Given the description of an element on the screen output the (x, y) to click on. 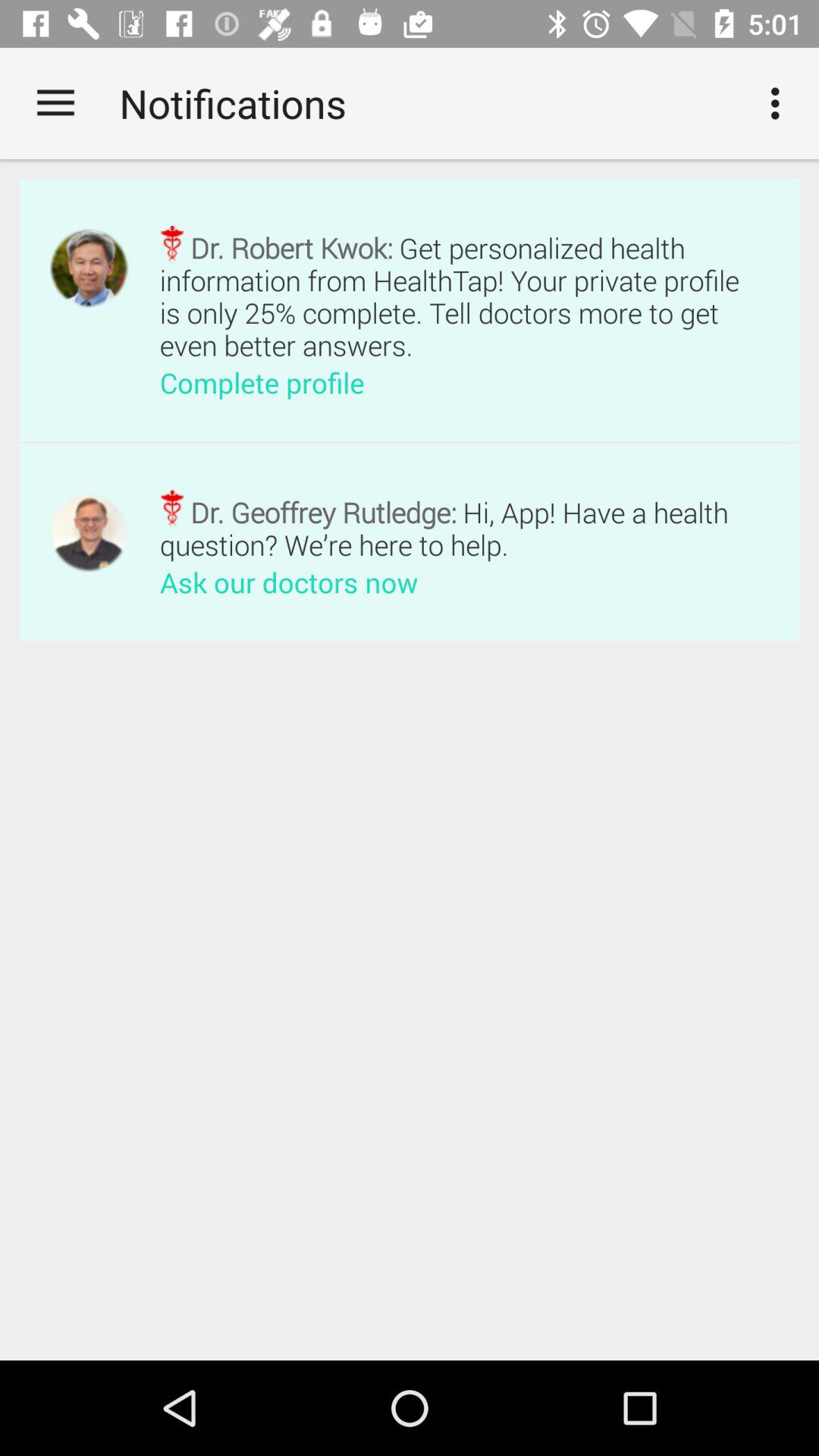
launch item above the dr robert kwok (779, 103)
